Given the description of an element on the screen output the (x, y) to click on. 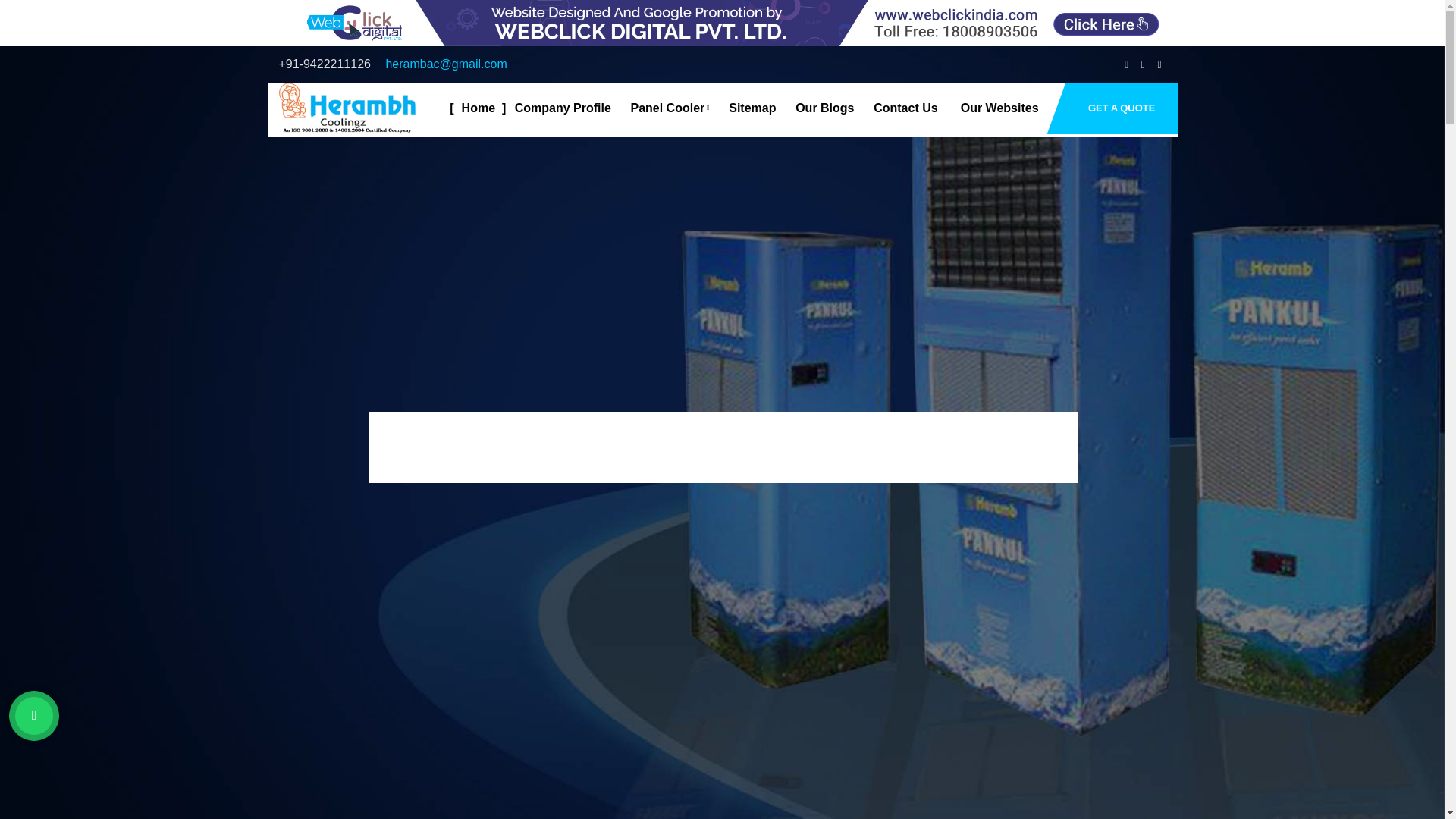
Company Profile (556, 108)
Home (472, 108)
Our Websites (992, 108)
Sitemap (746, 108)
Our Websites (992, 108)
Contact Us (900, 108)
Company Profile (722, 22)
Panel Cooler (556, 108)
Herambh Coolingz (663, 108)
Panel Cooler (346, 109)
GET A QUOTE (722, 21)
Our Blogs (663, 108)
